Given the description of an element on the screen output the (x, y) to click on. 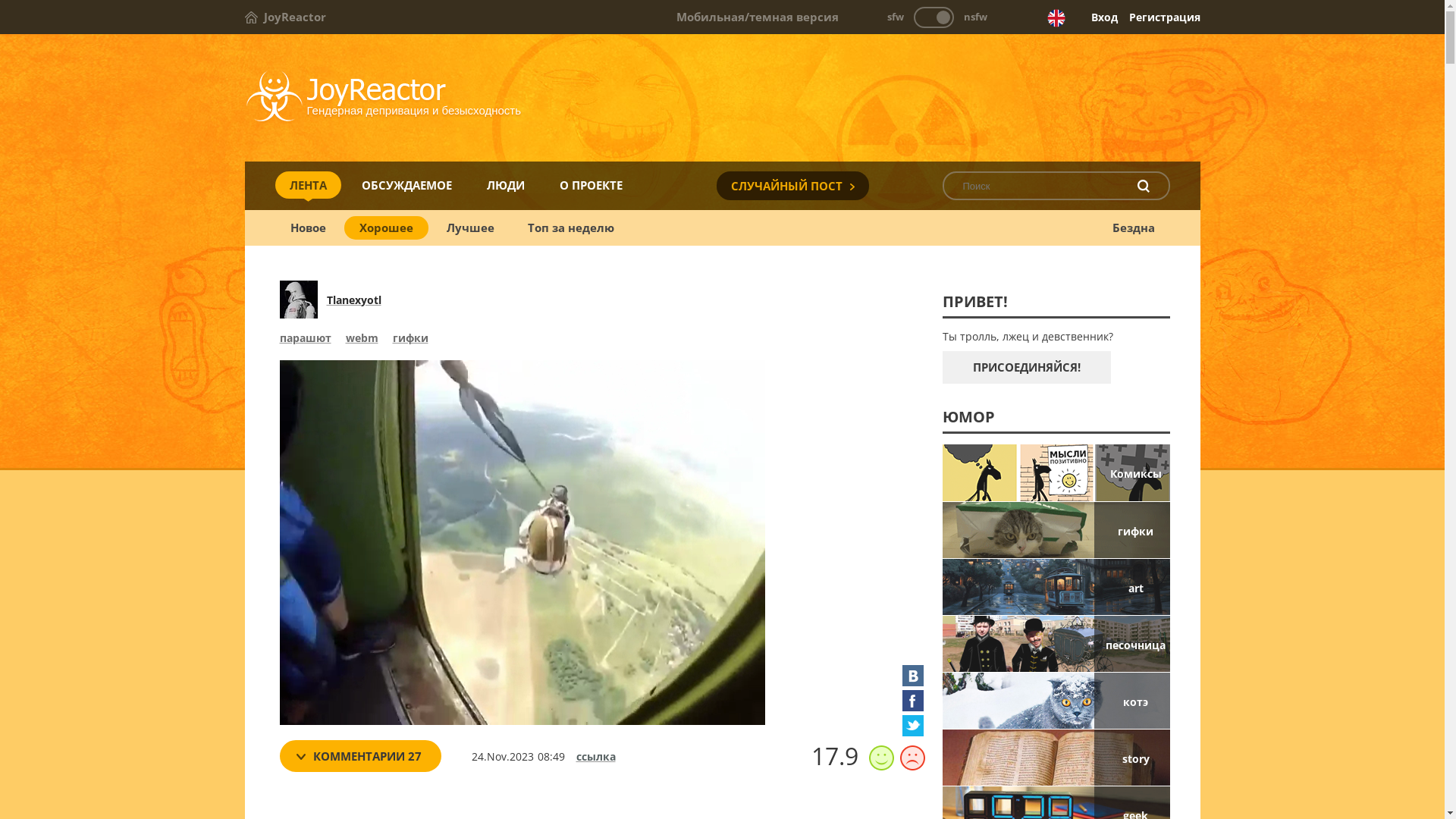
story Element type: text (1055, 757)
webm Element type: text (361, 339)
English version Element type: hover (1055, 18)
art Element type: text (1055, 586)
JoyReactor Element type: text (284, 17)
Tlanexyotl Element type: text (353, 299)
